Given the description of an element on the screen output the (x, y) to click on. 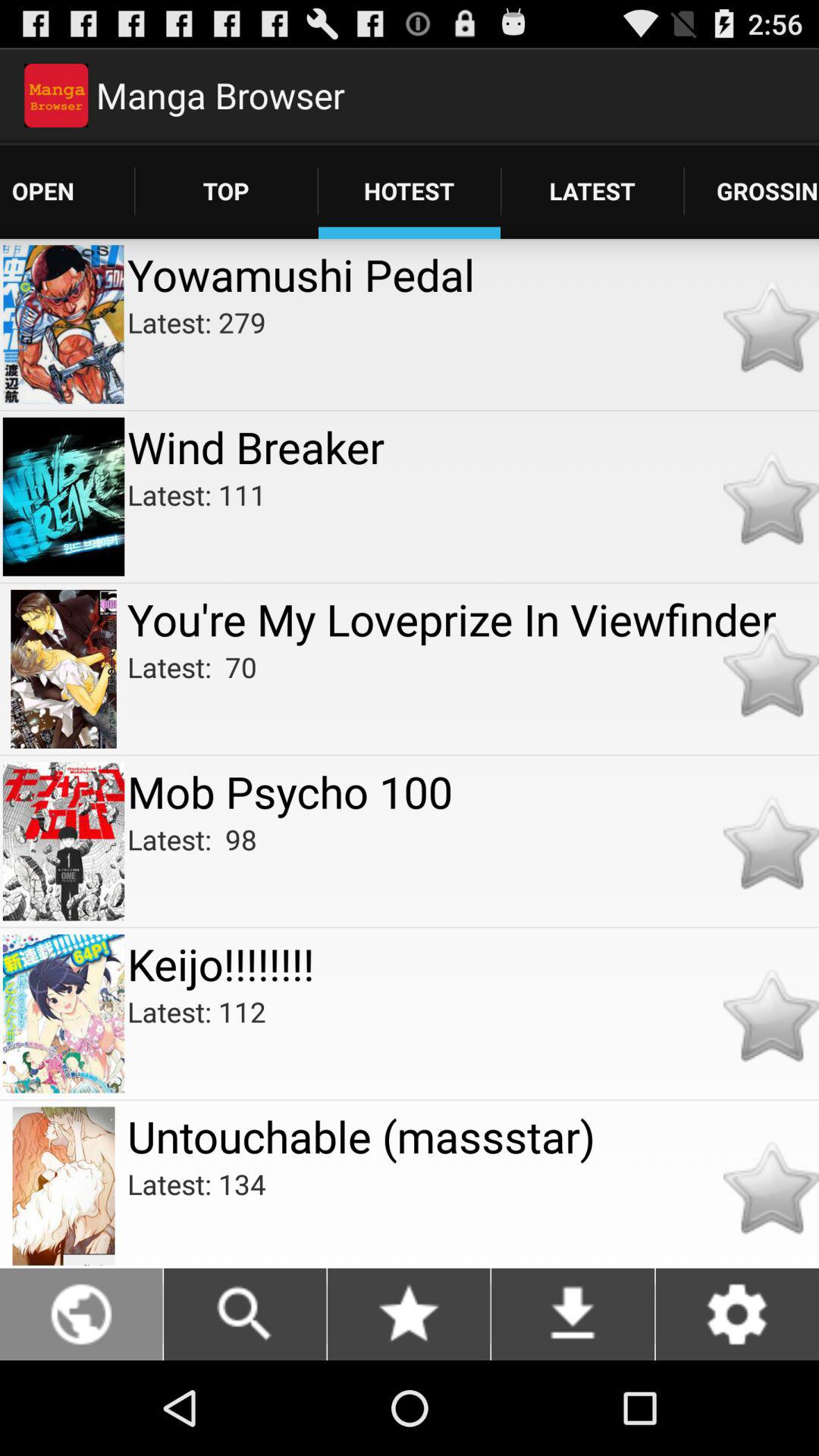
flip to the wind breaker icon (473, 446)
